Given the description of an element on the screen output the (x, y) to click on. 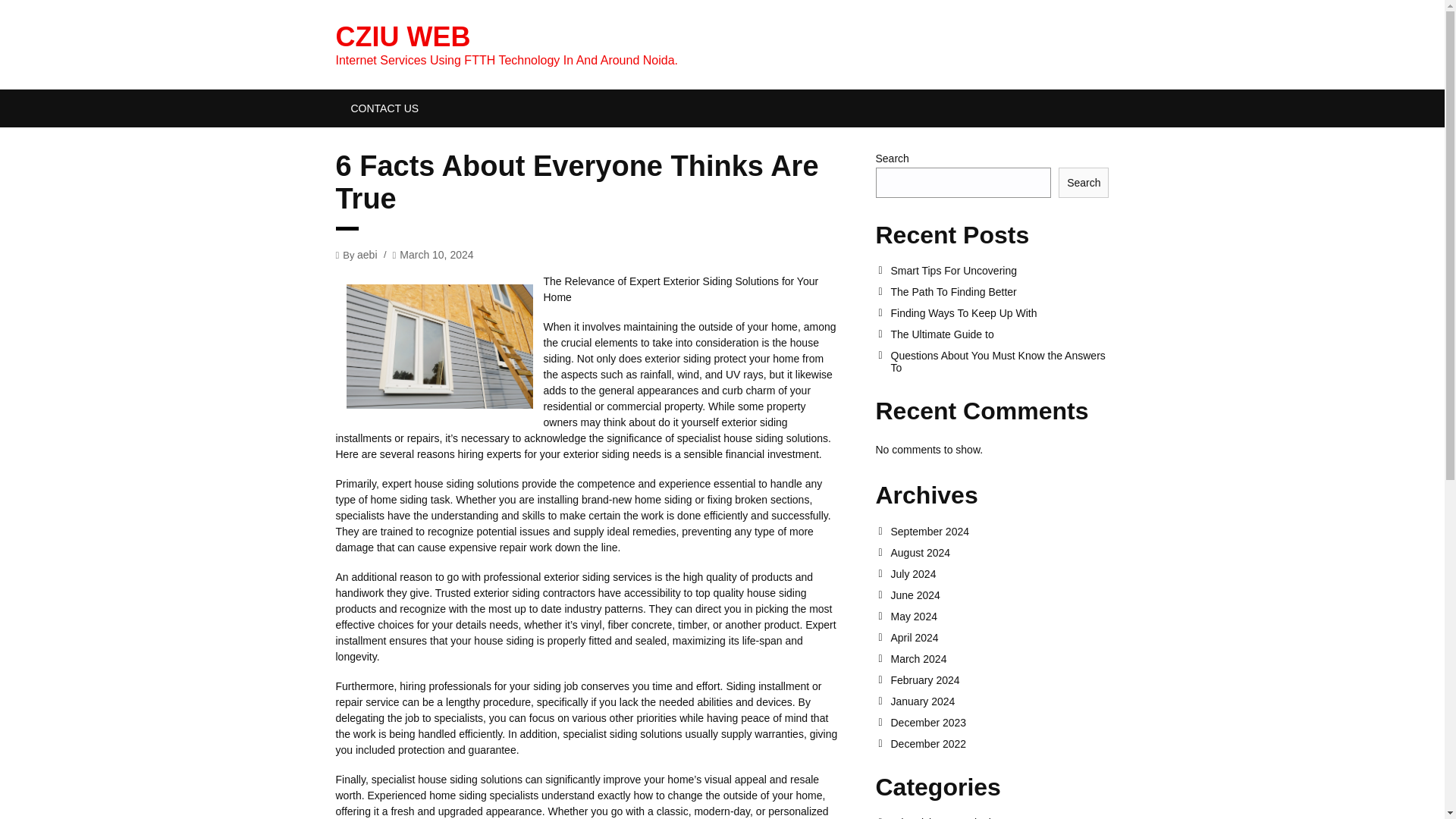
CONTACT US (383, 108)
June 2024 (998, 594)
December 2022 (998, 743)
Smart Tips For Uncovering (998, 270)
CZIU WEB (402, 36)
Internet Services Using FTTH Technology In And Around Noida. (402, 36)
Questions About You Must Know the Answers To (998, 361)
March 2024 (998, 658)
The Path To Finding Better (998, 291)
Finding Ways To Keep Up With (998, 313)
